Given the description of an element on the screen output the (x, y) to click on. 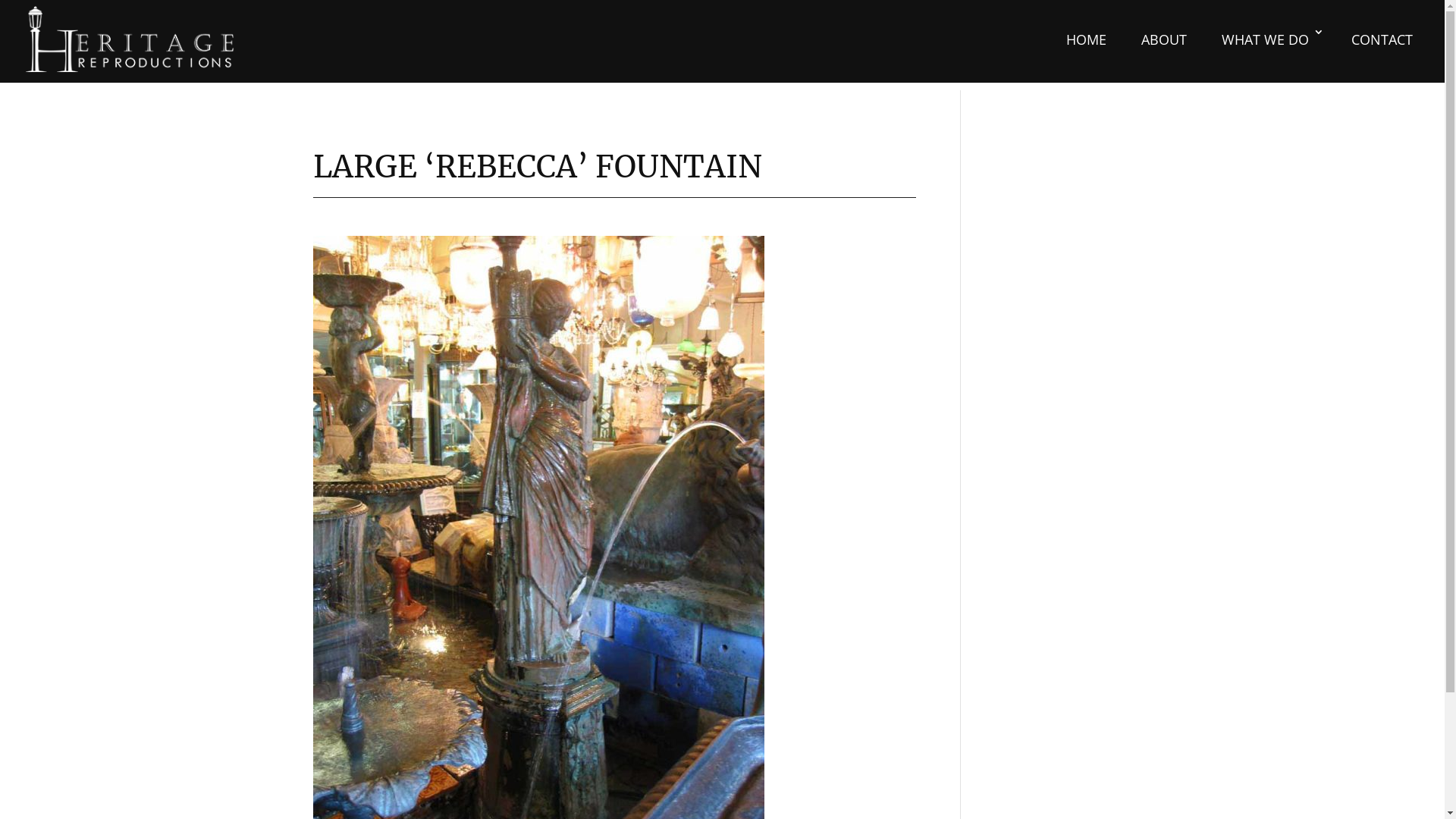
WHAT WE DO Element type: text (1269, 39)
CONTACT Element type: text (1381, 39)
ABOUT Element type: text (1163, 39)
HOME Element type: text (1085, 39)
